Given the description of an element on the screen output the (x, y) to click on. 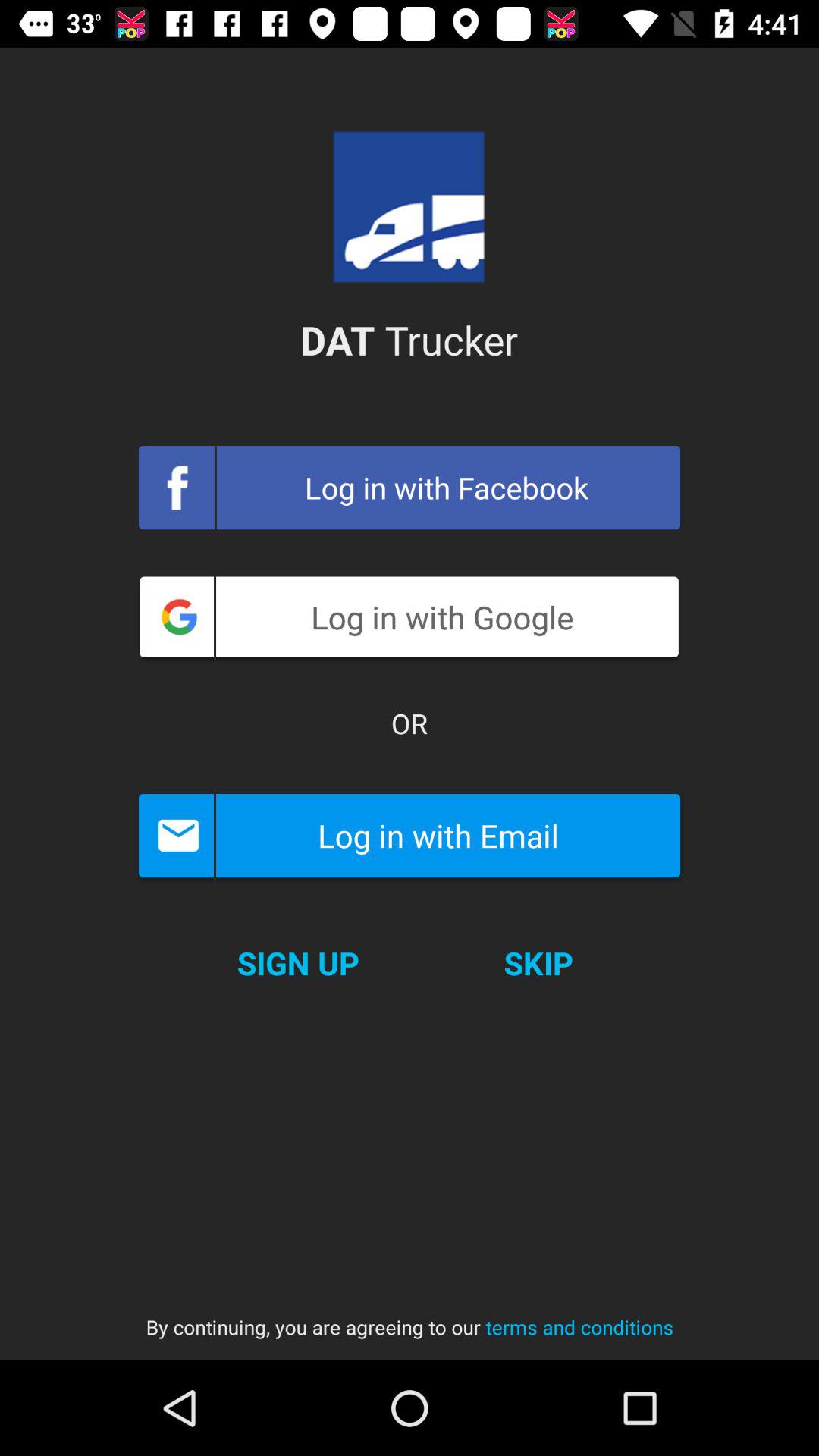
open the by continuing you icon (409, 1312)
